Given the description of an element on the screen output the (x, y) to click on. 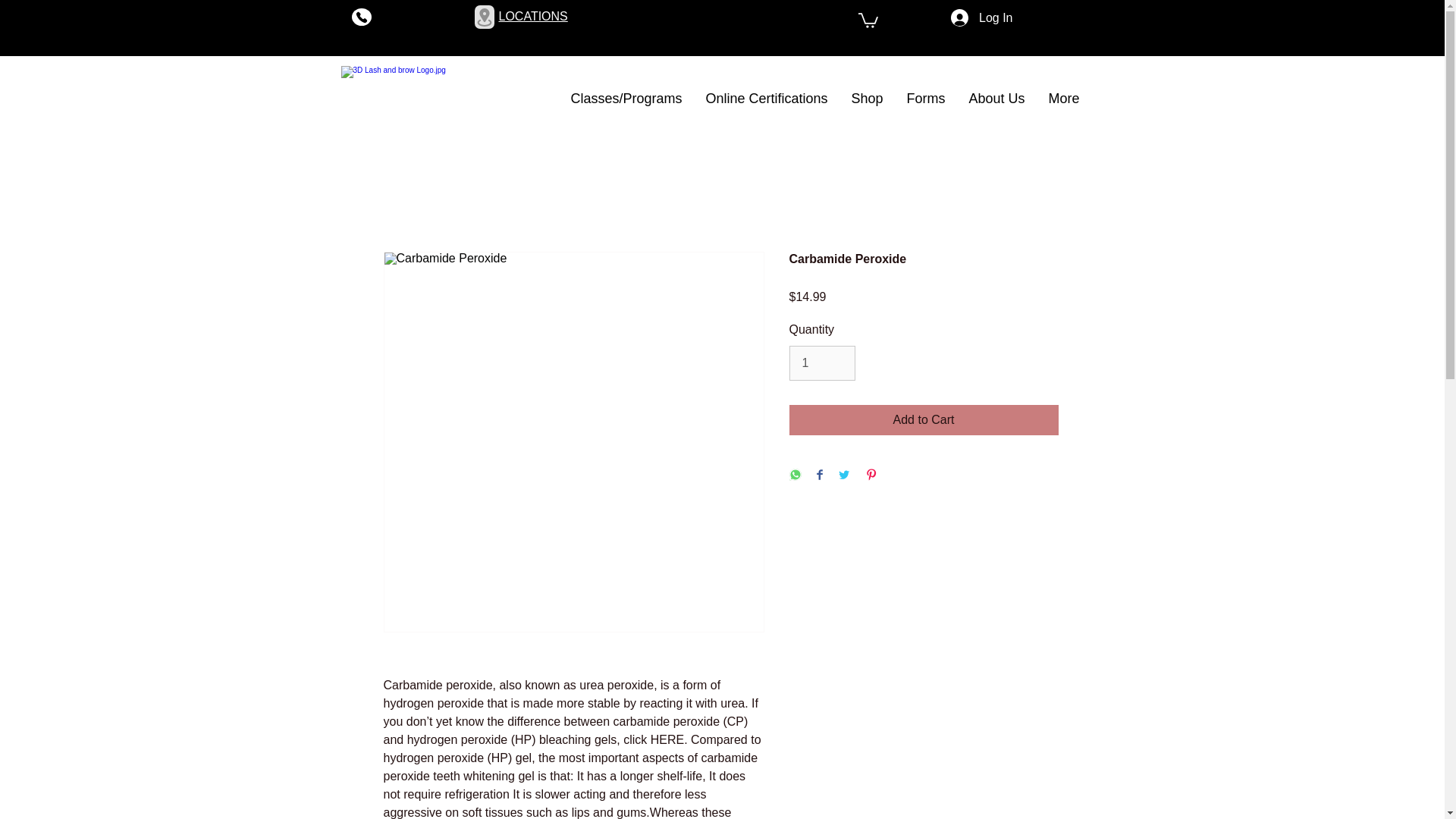
1 (821, 362)
About Us (996, 98)
Forms (925, 98)
LOCATIONS (533, 15)
Shop (865, 98)
Online Certifications (765, 98)
Log In (981, 18)
Add to Cart (923, 419)
